Given the description of an element on the screen output the (x, y) to click on. 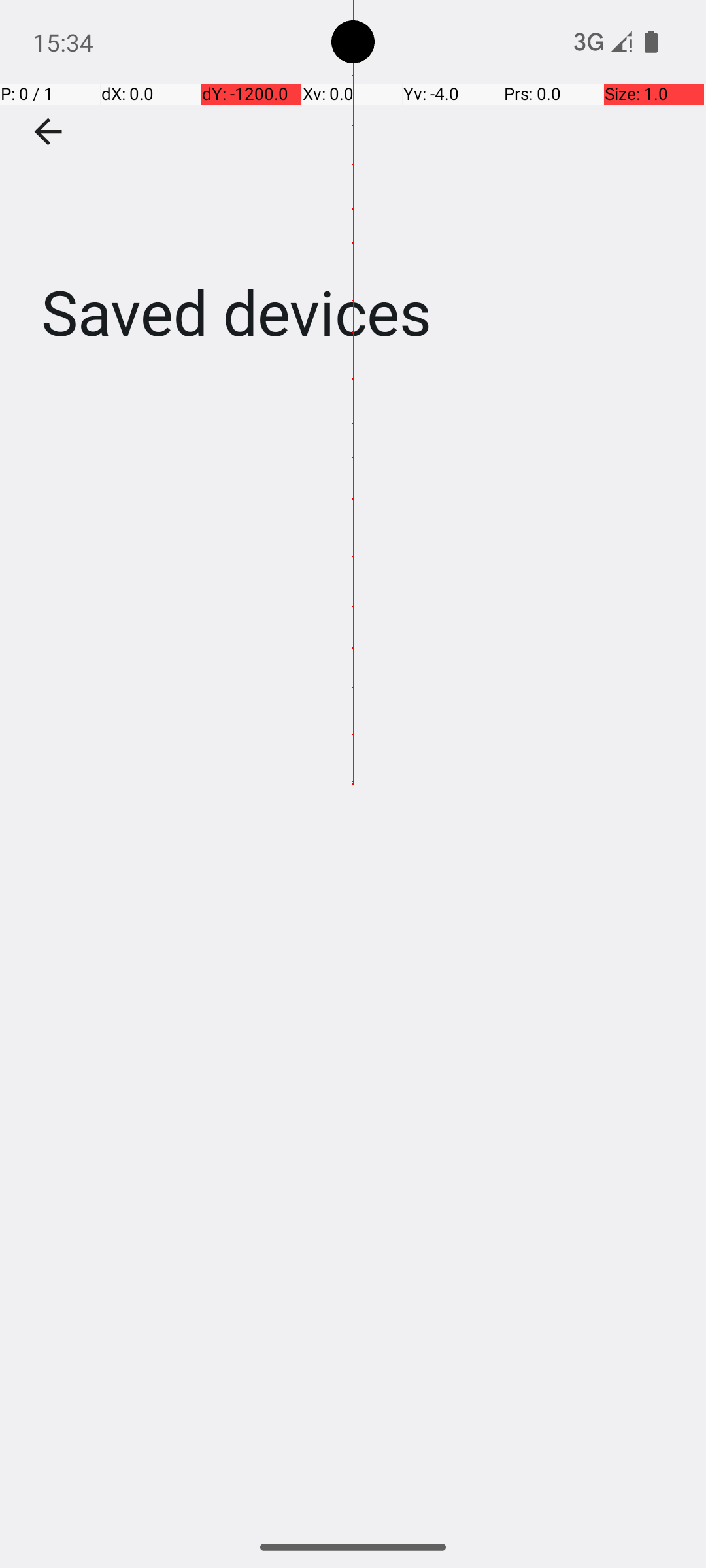
Saved devices Element type: android.widget.FrameLayout (353, 195)
